Given the description of an element on the screen output the (x, y) to click on. 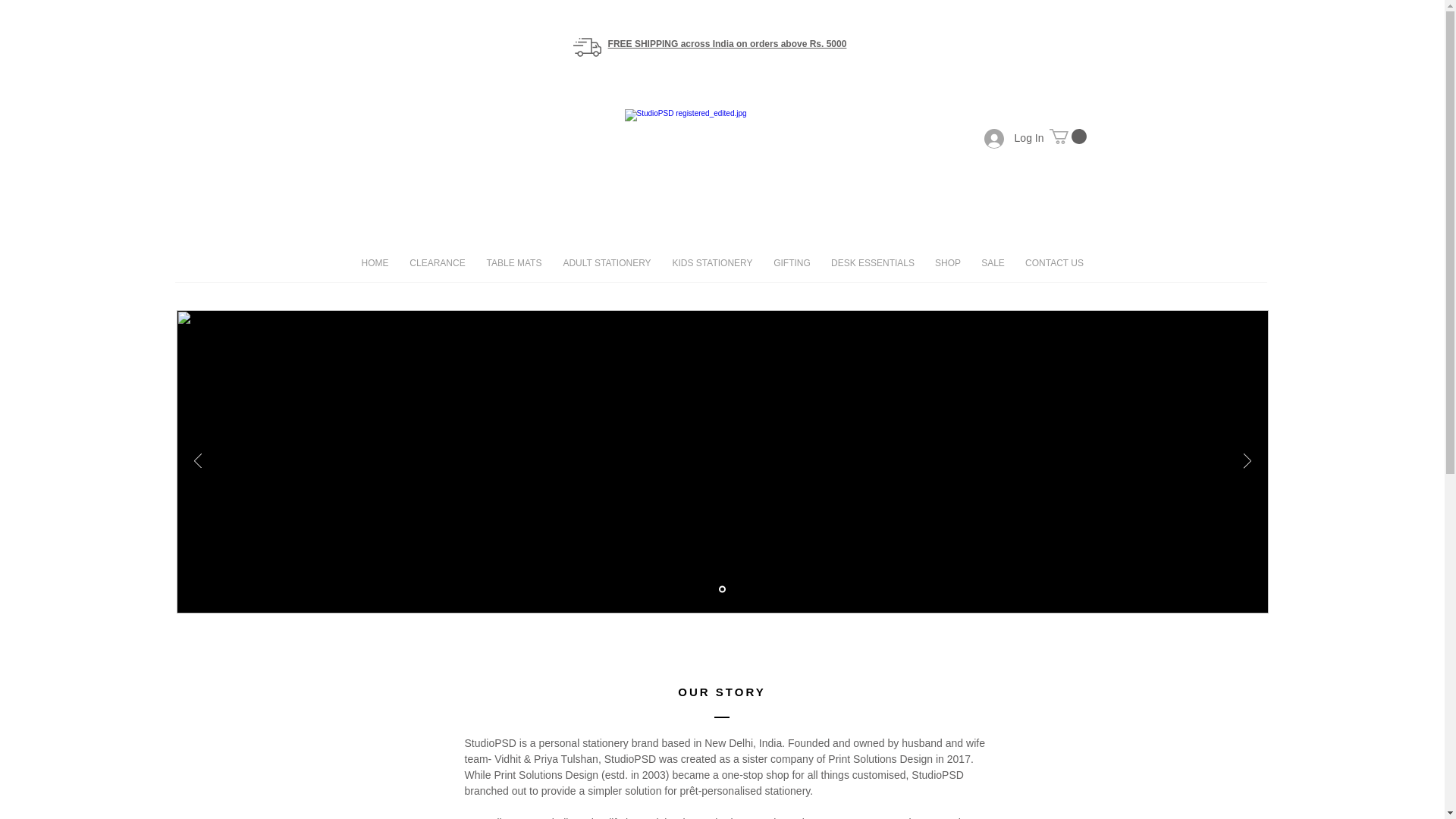
CLEARANCE (437, 263)
DESK ESSENTIALS (872, 263)
KIDS STATIONERY (711, 263)
HOME (374, 263)
FREE SHIPPING across India on orders above Rs. 5000 (727, 43)
Log In (1014, 138)
ADULT STATIONERY (606, 263)
GIFTING (791, 263)
TABLE MATS (514, 263)
